Given the description of an element on the screen output the (x, y) to click on. 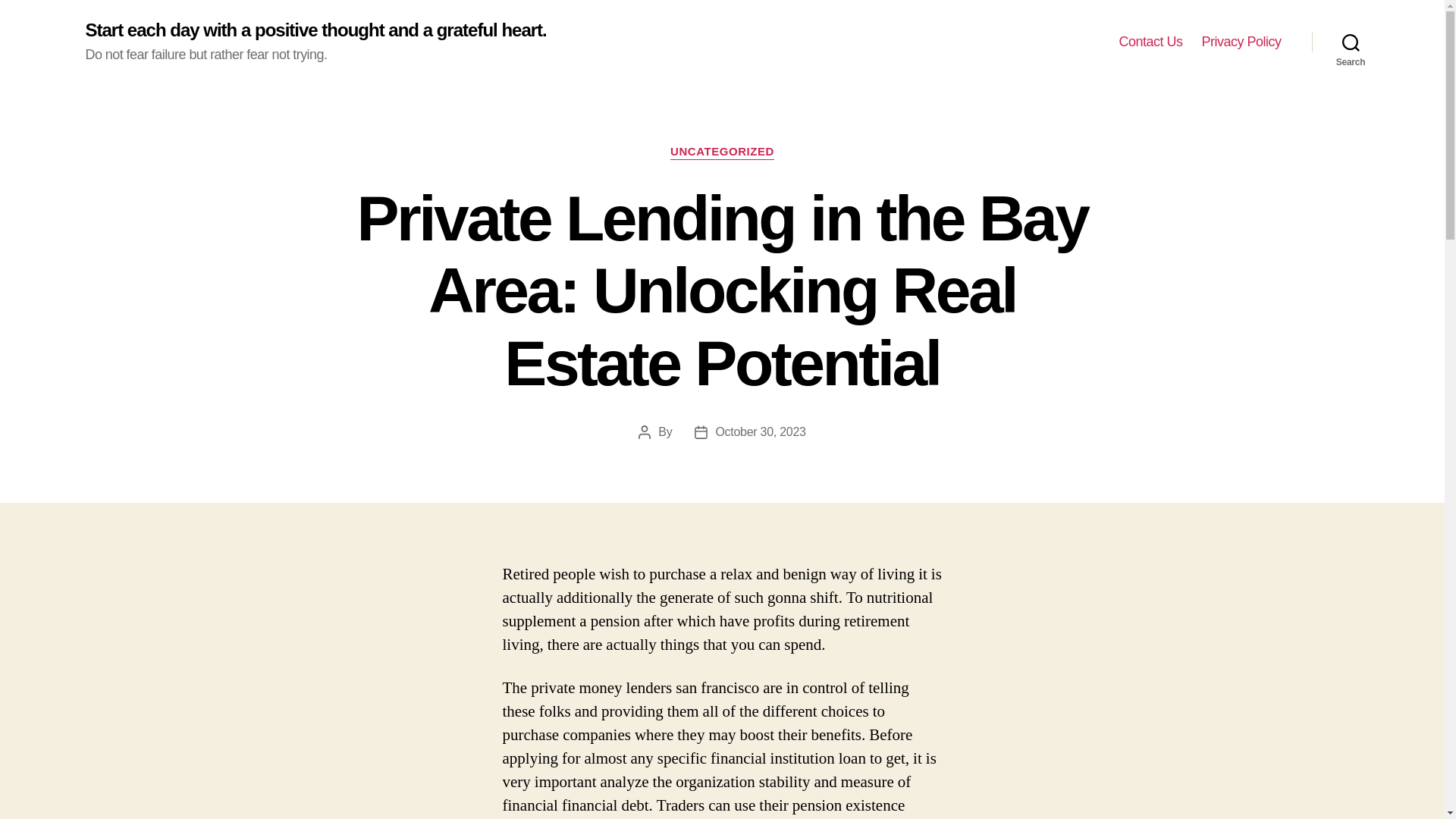
Privacy Policy (1241, 42)
Contact Us (1150, 42)
Search (1350, 41)
October 30, 2023 (759, 431)
UNCATEGORIZED (721, 151)
Start each day with a positive thought and a grateful heart. (315, 30)
